Given the description of an element on the screen output the (x, y) to click on. 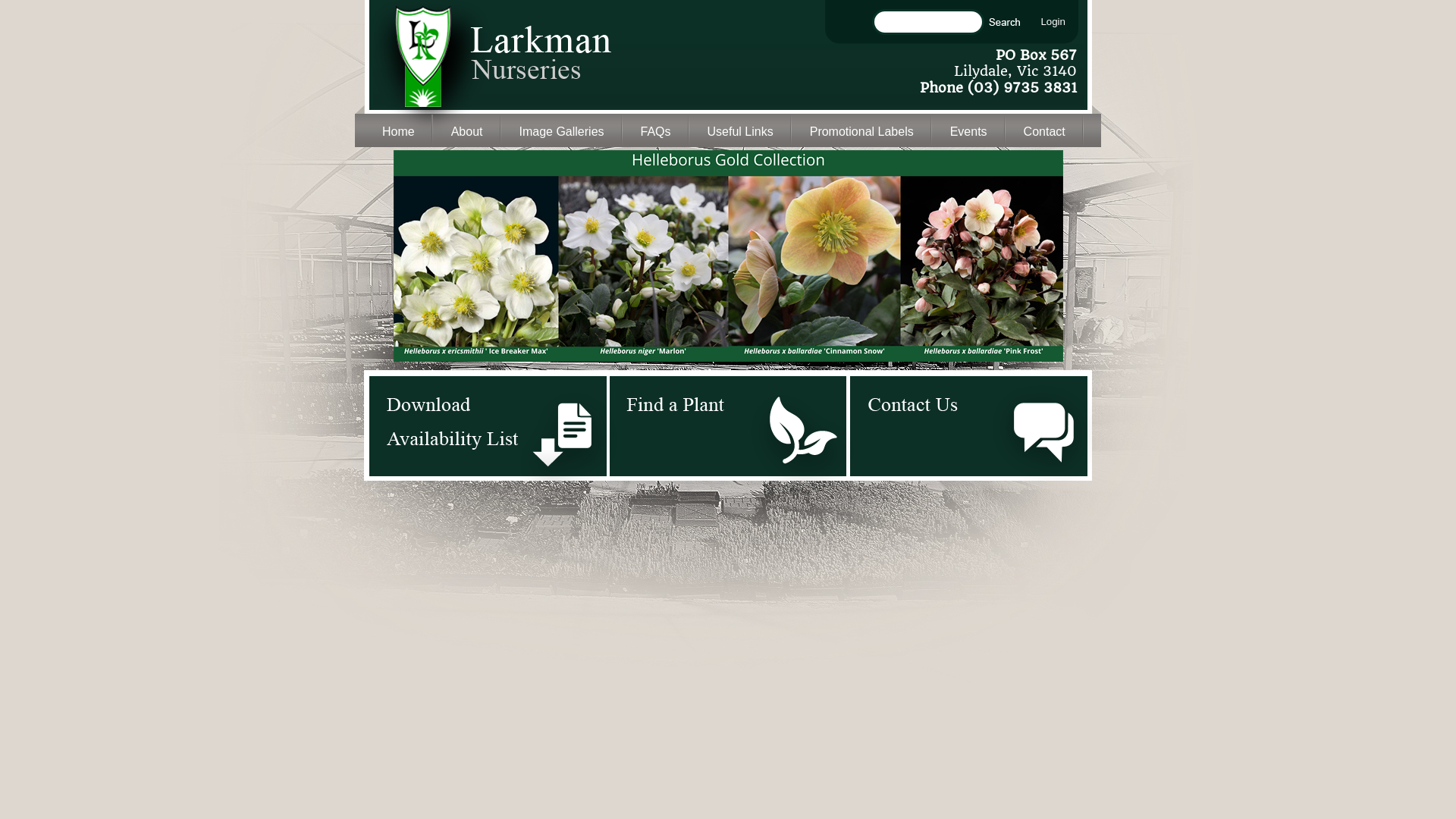
Larkman Nurseries Monthly Availability List Element type: hover (486, 425)
FAQs Element type: text (655, 130)
Useful Links Element type: text (740, 130)
Search Element type: hover (1004, 22)
About Element type: text (467, 130)
Promotional Labels Element type: text (861, 130)
HGC Element type: hover (727, 255)
Login Element type: text (1053, 21)
Home Element type: text (398, 130)
Image Galleries Element type: text (560, 130)
Events Element type: text (968, 130)
Contact Element type: text (1044, 130)
